Given the description of an element on the screen output the (x, y) to click on. 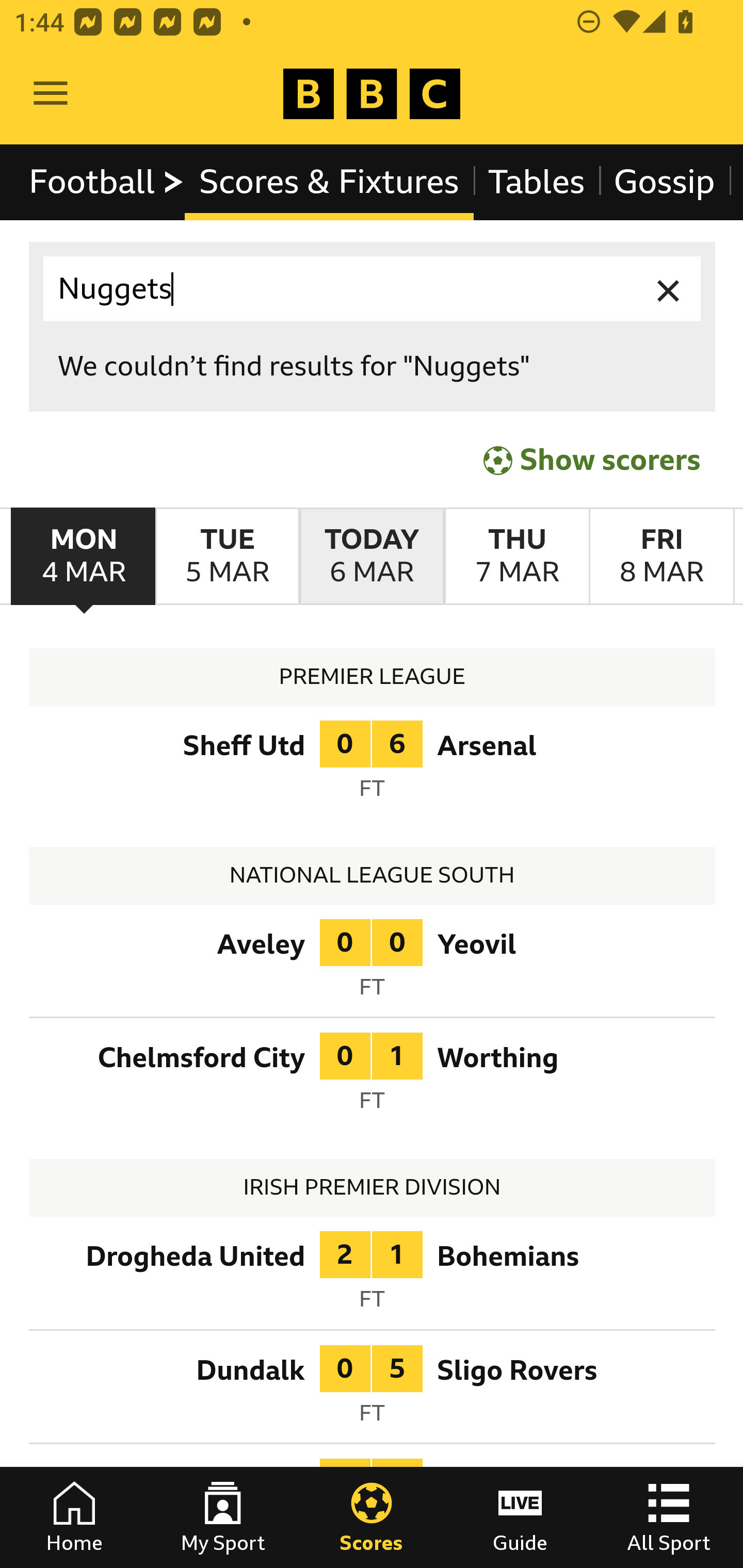
Open Menu (50, 93)
Football  (106, 181)
Scores & Fixtures (329, 181)
Tables (536, 181)
Gossip (664, 181)
Nuggets (372, 289)
Clear input (669, 289)
Show scorers (591, 459)
TuesdayMarch 5th Tuesday March 5th (227, 557)
TodayMarch 6th Today March 6th (371, 557)
ThursdayMarch 7th Thursday March 7th (516, 557)
FridayMarch 8th Friday March 8th (661, 557)
68399653 Sheffield United 0 Arsenal 6 Full Time (372, 765)
Home (74, 1517)
My Sport (222, 1517)
Guide (519, 1517)
All Sport (668, 1517)
